Given the description of an element on the screen output the (x, y) to click on. 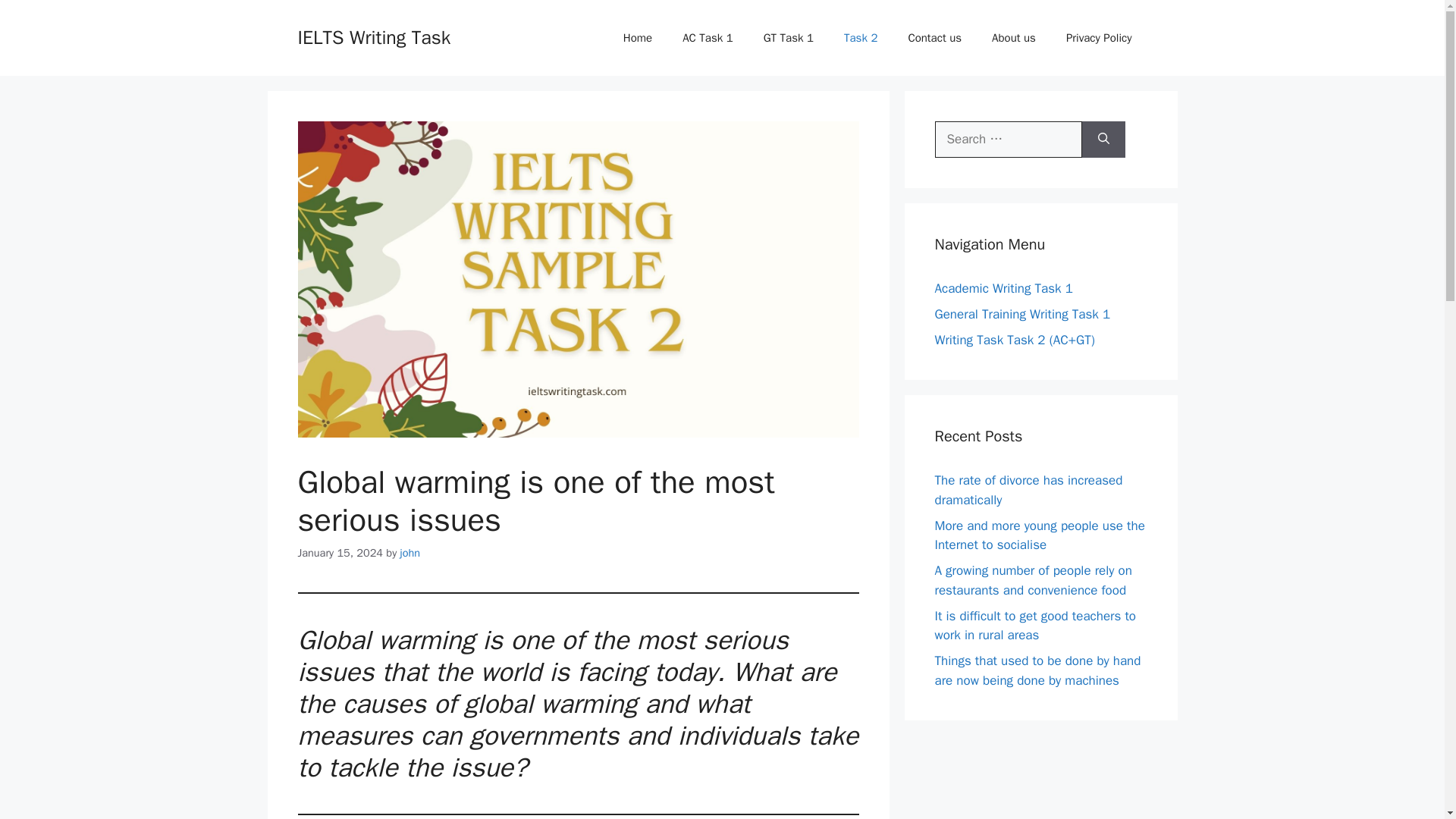
The rate of divorce has increased dramatically (1028, 489)
More and more young people use the Internet to socialise (1039, 534)
GT Task 1 (788, 37)
About us (1013, 37)
Privacy Policy (1099, 37)
Contact us (934, 37)
It is difficult to get good teachers to work in rural areas (1034, 625)
Home (637, 37)
View all posts by john (410, 552)
